Given the description of an element on the screen output the (x, y) to click on. 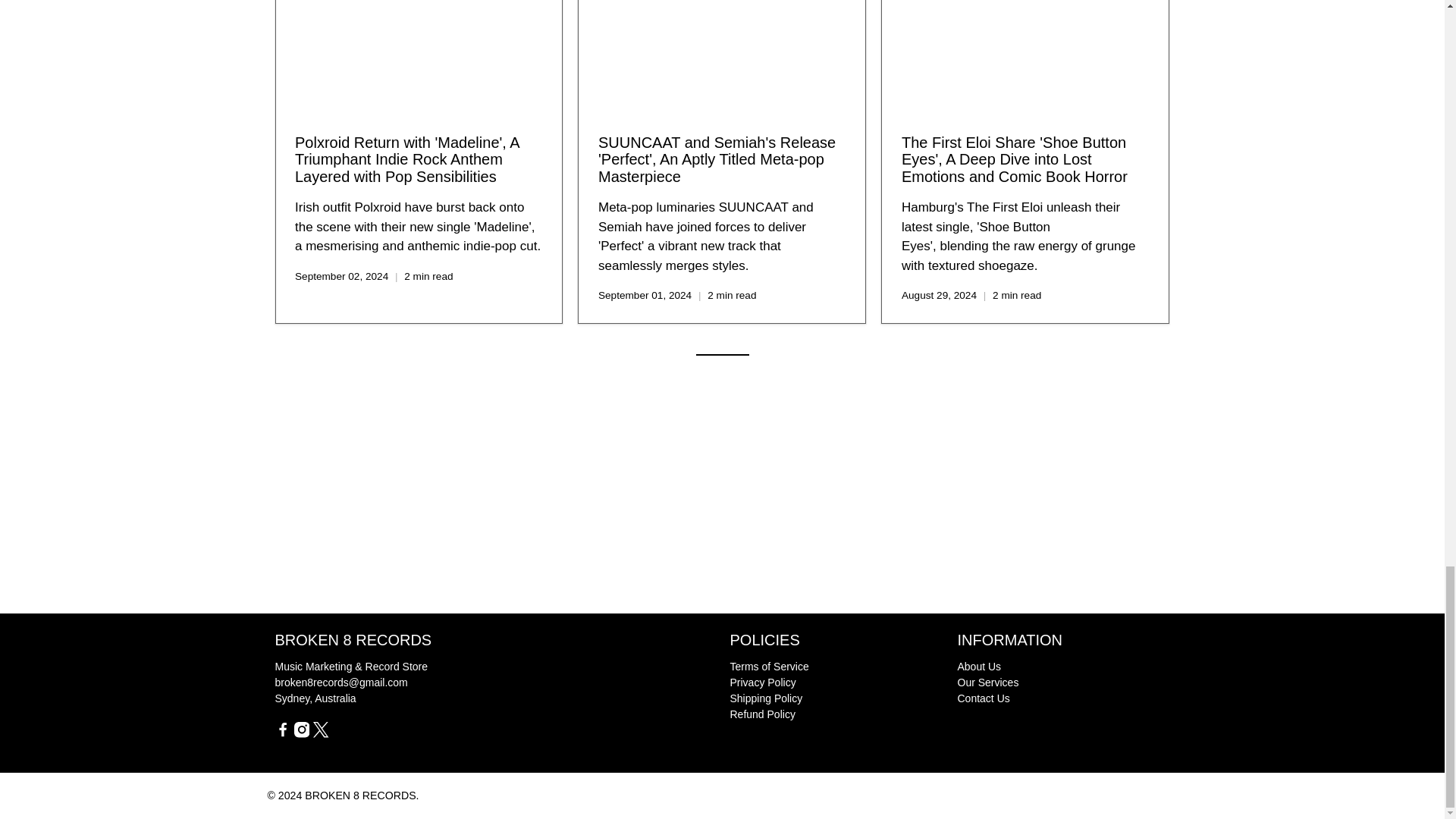
BROKEN 8 RECORDS on Facebook (282, 734)
BROKEN 8 RECORDS on Instagram (301, 734)
